Given the description of an element on the screen output the (x, y) to click on. 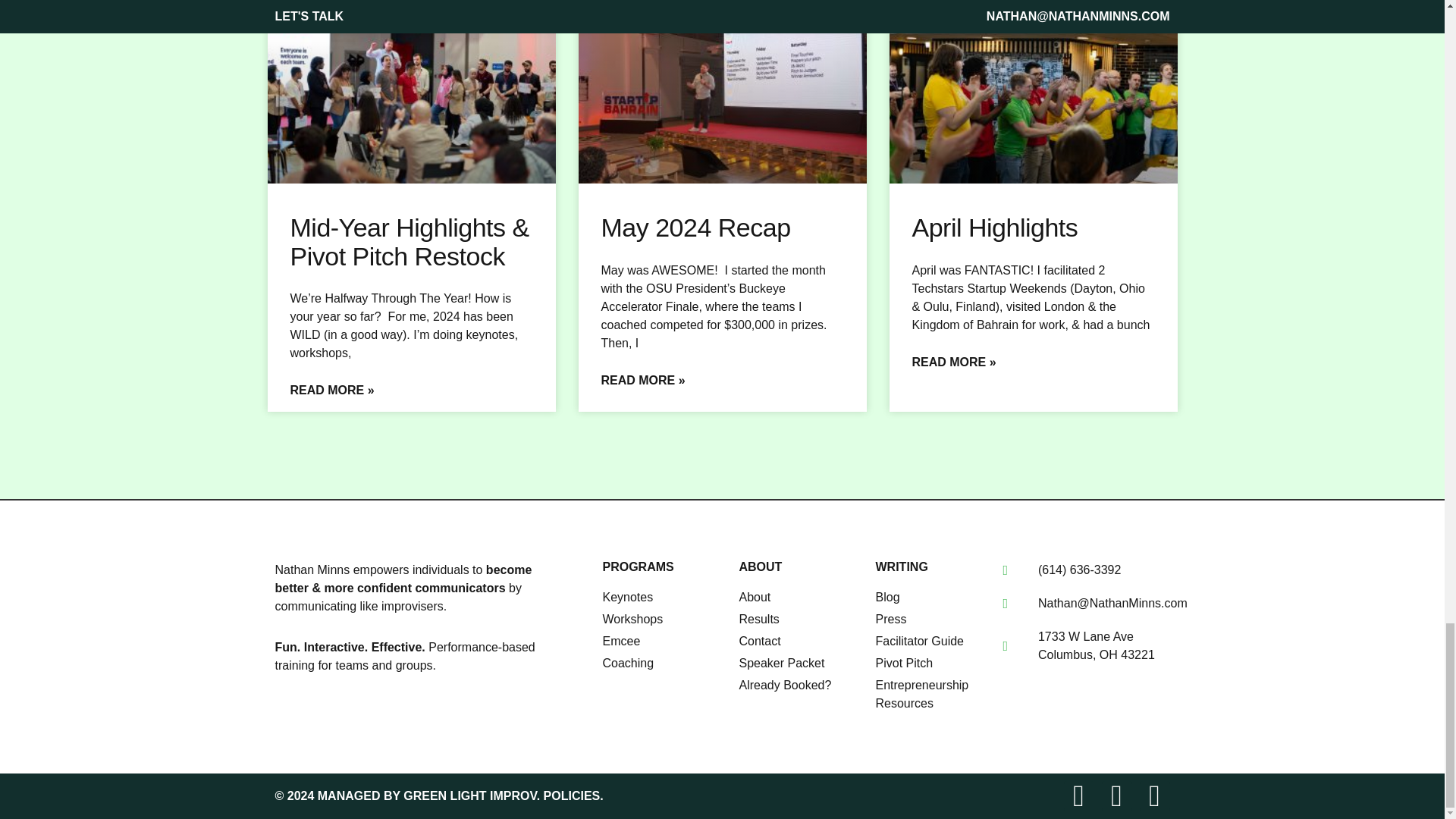
Contact (799, 641)
Speaker Packet (799, 663)
May 2024 Recap (694, 226)
Results (799, 619)
Keynotes (662, 597)
Coaching (662, 663)
April Highlights (994, 226)
Already Booked? (799, 685)
Emcee (662, 641)
Blog (931, 597)
Workshops (662, 619)
About (799, 597)
